Given the description of an element on the screen output the (x, y) to click on. 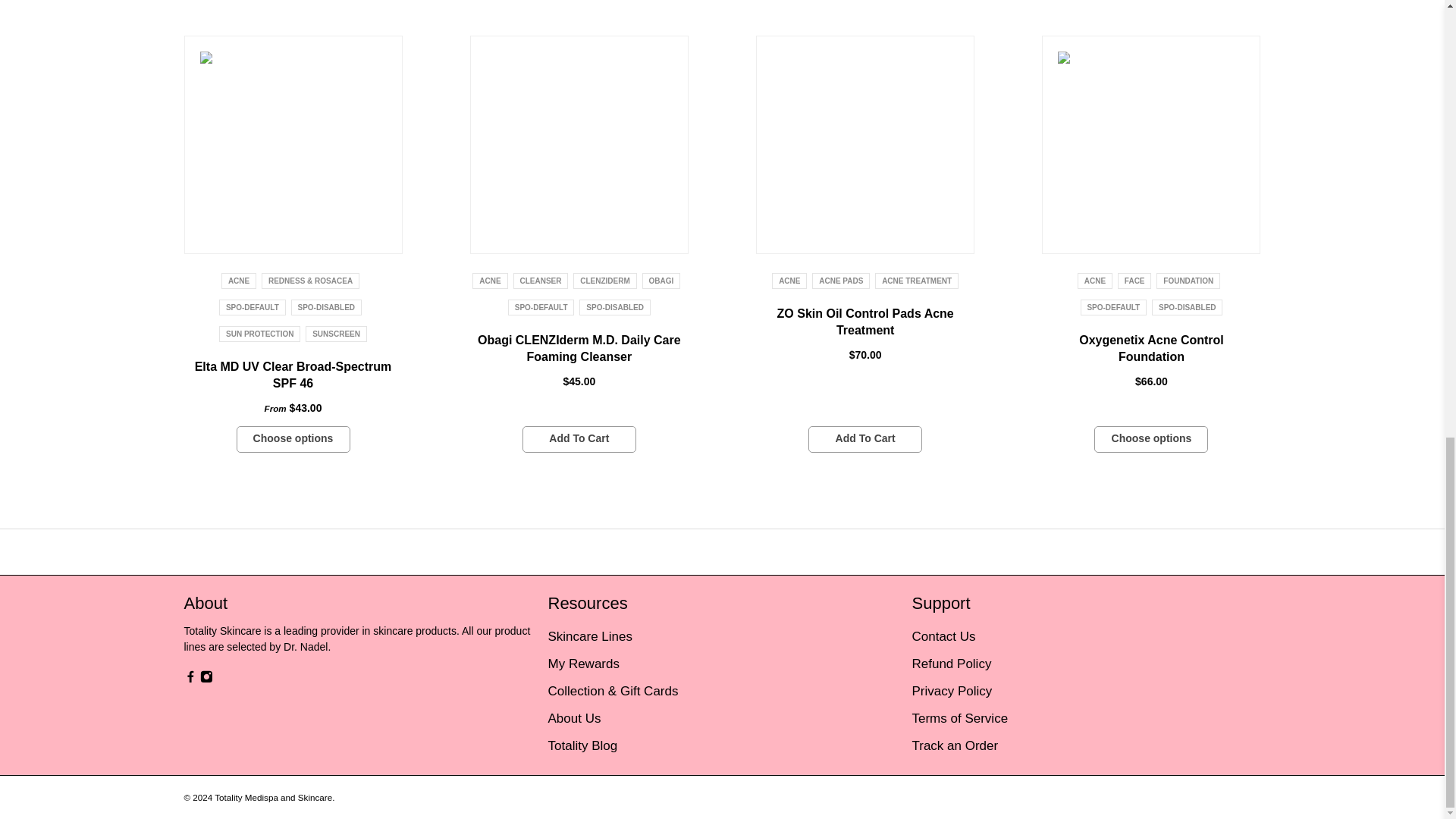
Products tagged Acne (238, 280)
Products tagged Acne (489, 280)
Products tagged Sun Protection (259, 333)
Products tagged Sunscreen (336, 333)
Products tagged spo-default (252, 307)
Products tagged spo-disabled (326, 307)
